Given the description of an element on the screen output the (x, y) to click on. 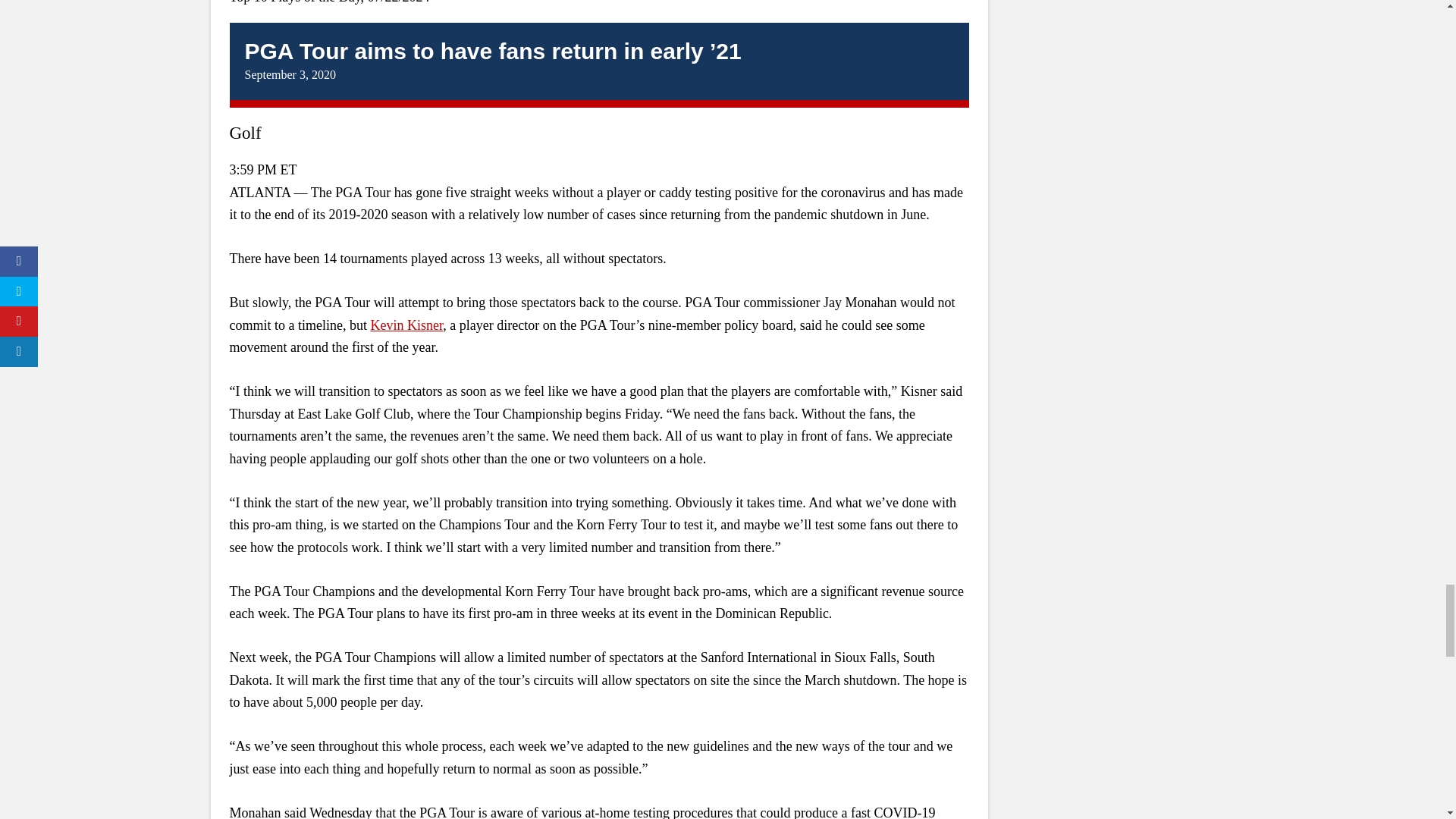
Golf (244, 132)
